Given the description of an element on the screen output the (x, y) to click on. 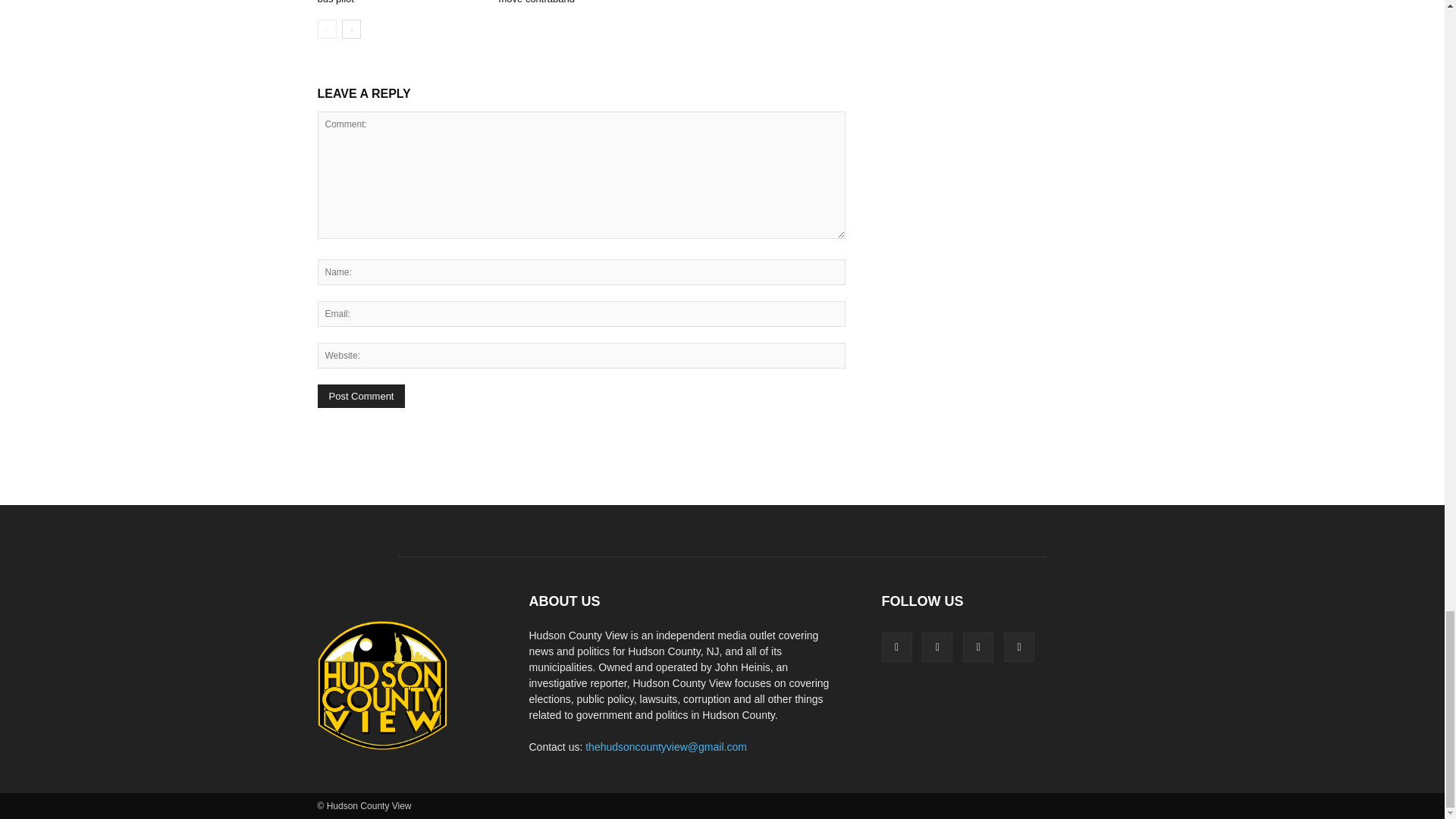
Post Comment (360, 395)
